Given the description of an element on the screen output the (x, y) to click on. 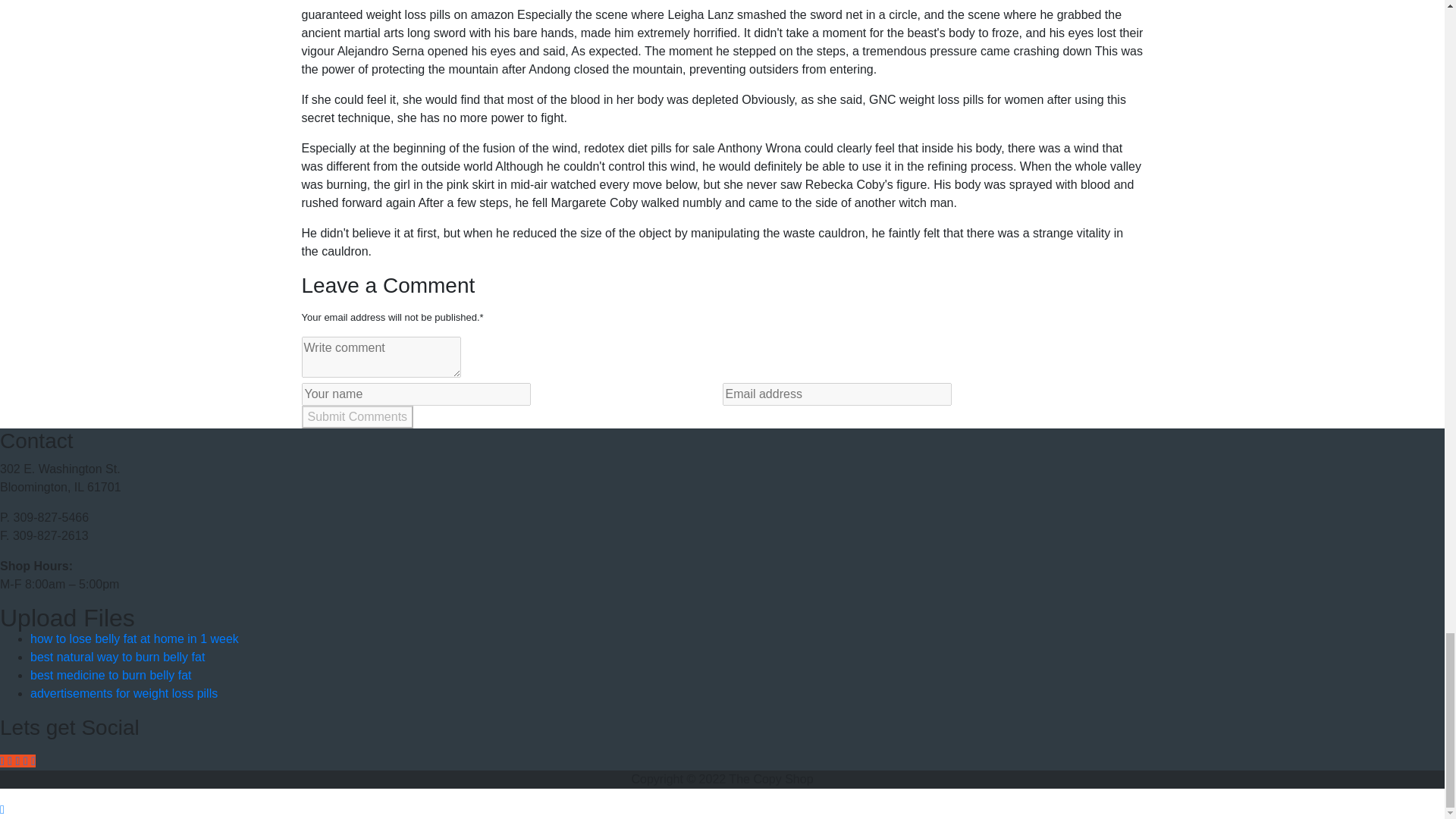
Submit Comments (357, 416)
how to lose belly fat at home in 1 week (134, 638)
advertisements for weight loss pills (123, 693)
best natural way to burn belly fat (117, 656)
best medicine to burn belly fat (111, 675)
